Given the description of an element on the screen output the (x, y) to click on. 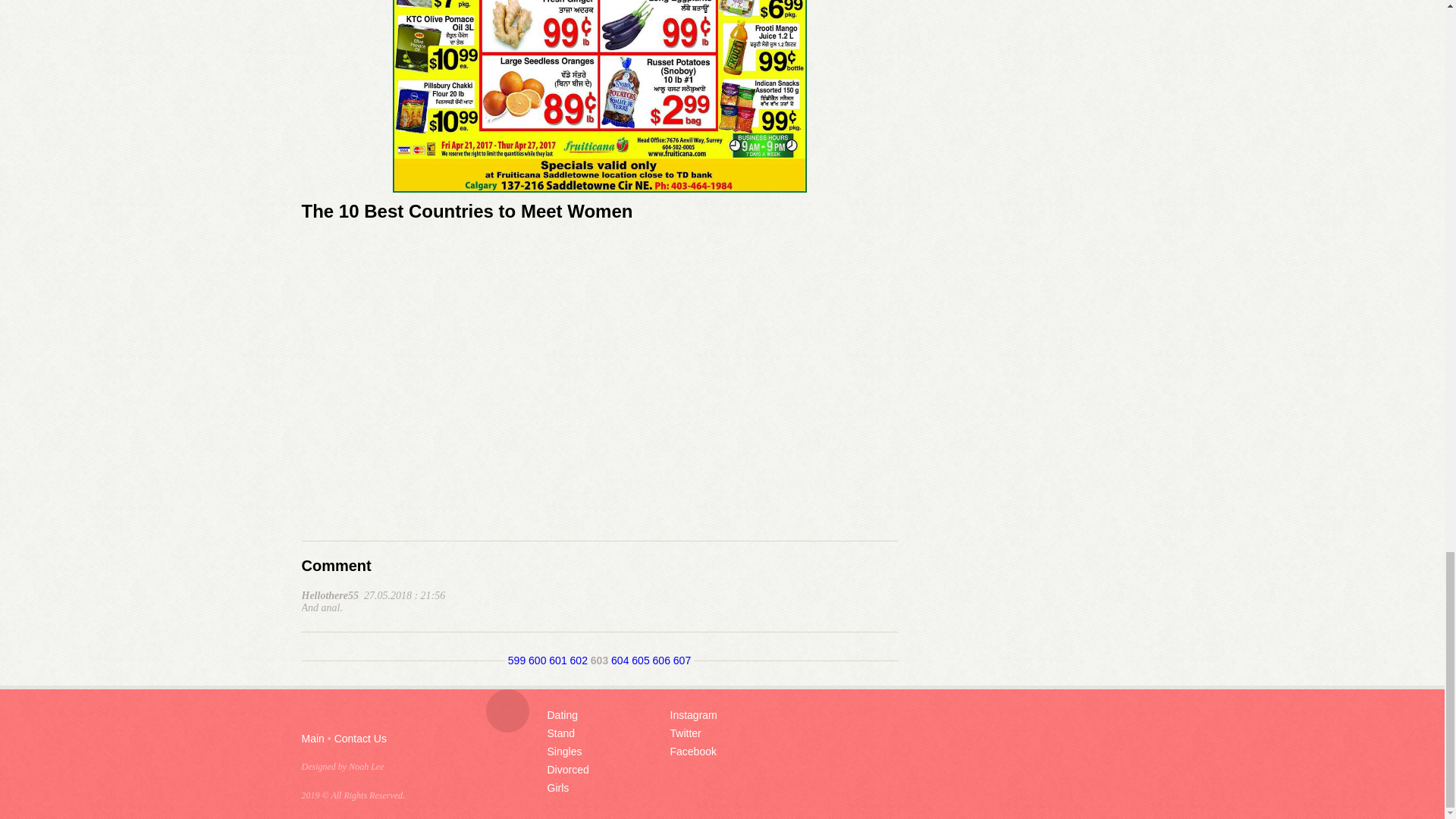
Girls (558, 787)
Upwards (506, 710)
605 (640, 660)
Upwards (506, 710)
Promiscuity Dating Singles Calgary Local In Spider (599, 96)
Dating (562, 715)
Facebook (692, 751)
607 (681, 660)
602 (579, 660)
Stand (561, 733)
